Given the description of an element on the screen output the (x, y) to click on. 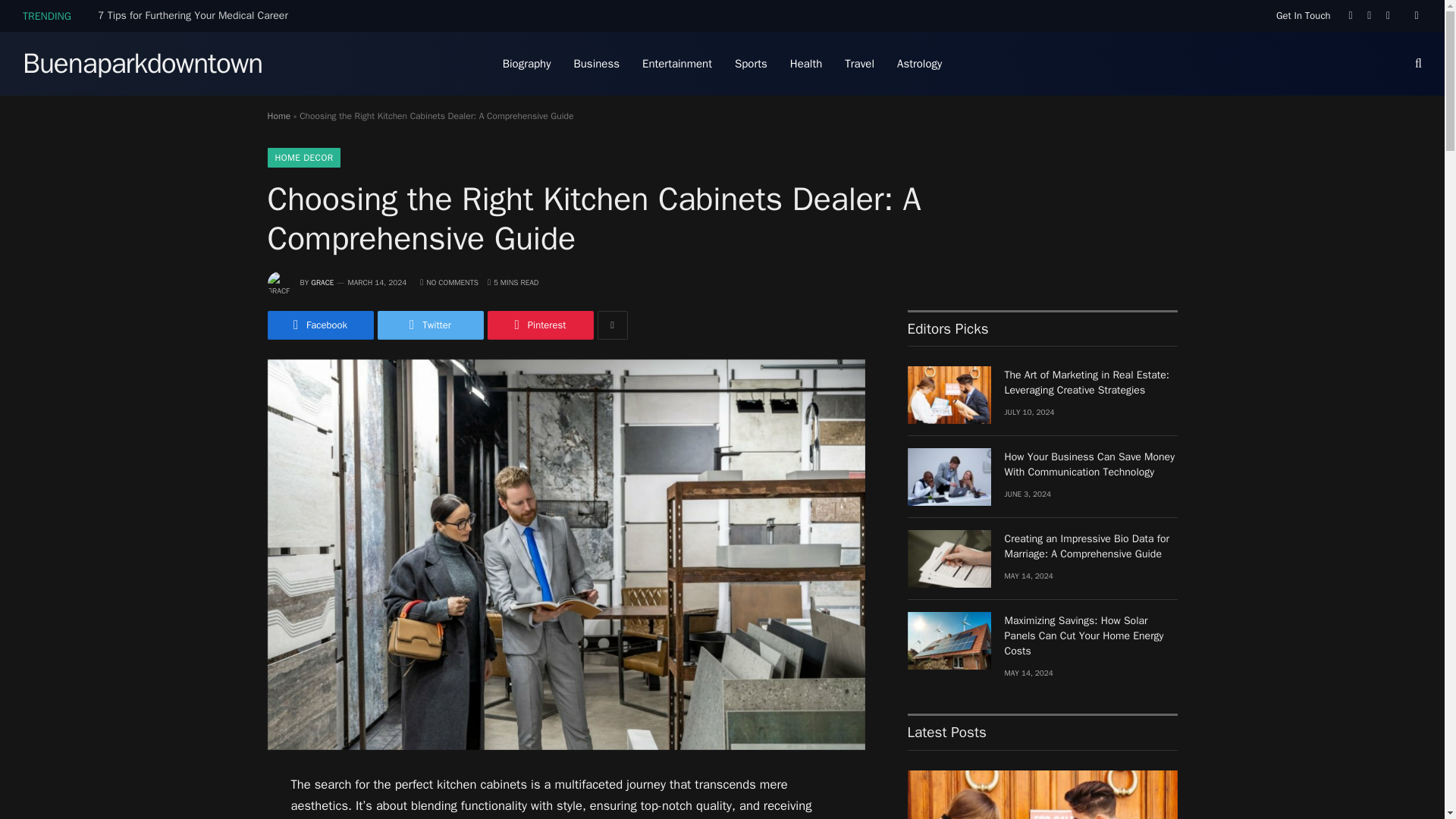
Switch to Light Design. (1414, 15)
Get In Touch (1303, 15)
Home (277, 115)
Posts by Grace (322, 282)
Share on Pinterest (539, 325)
Share on Facebook (319, 325)
Entertainment (676, 63)
Astrology (919, 63)
buenaparkdowntown (142, 63)
Business (596, 63)
Buenaparkdowntown (142, 63)
HOME DECOR (303, 157)
Biography (527, 63)
7 Tips for Furthering Your Medical Career (196, 15)
